Given the description of an element on the screen output the (x, y) to click on. 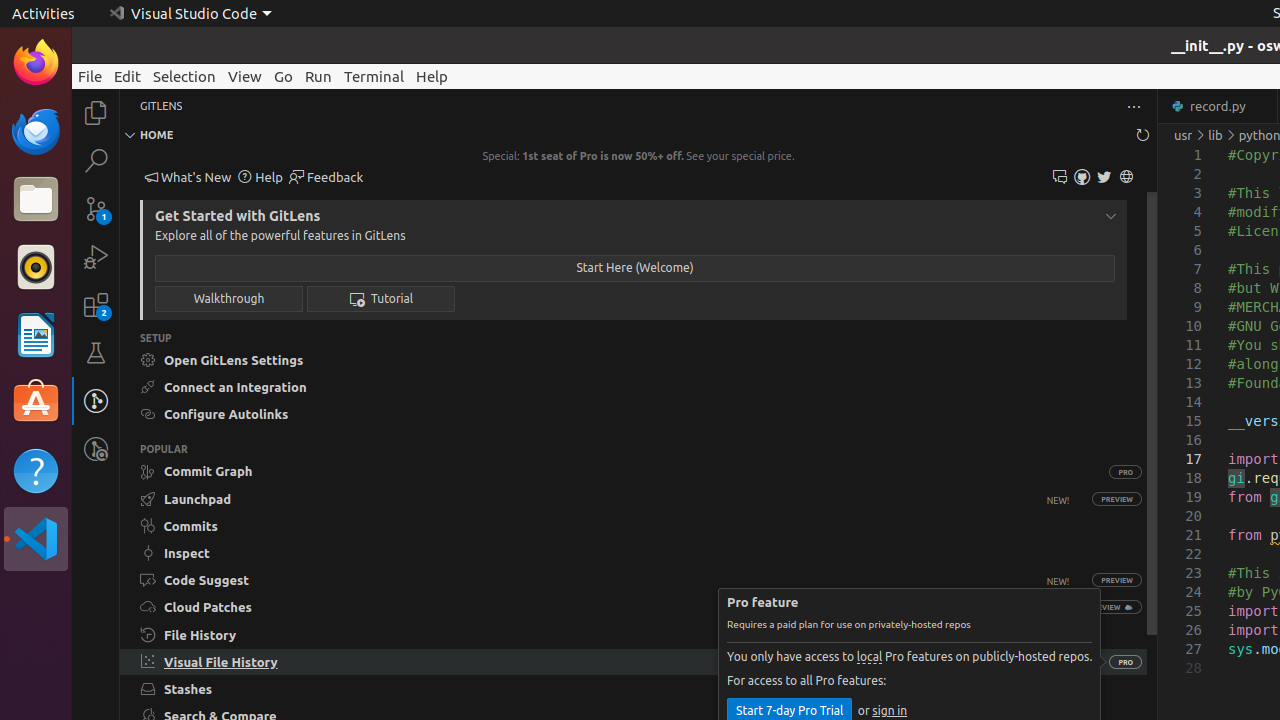
Open GitLens Settings Element type: link (633, 359)
Show Visual File History view Element type: link (613, 661)
Collapse walkthrough section Element type: link (1111, 216)
Run Element type: push-button (318, 76)
